Given the description of an element on the screen output the (x, y) to click on. 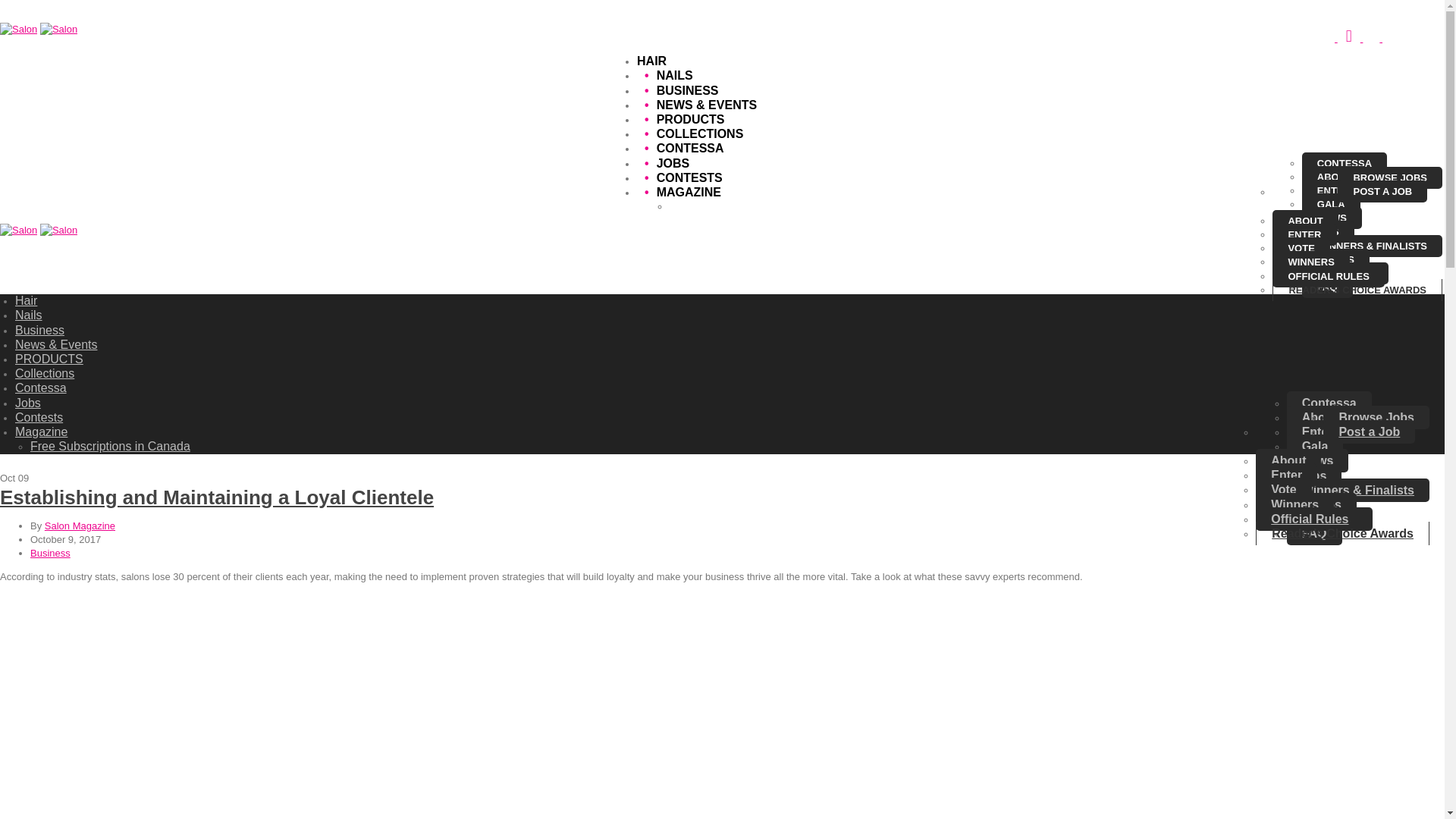
HAIR (651, 60)
WINNERS (1310, 261)
GALA (1330, 204)
ABOUT (1305, 220)
SPONSORS (1345, 273)
CONTESSA (1344, 162)
OFFICIAL RULES (1328, 276)
NEWS (1331, 218)
BROWSE JOBS (1390, 178)
BUSINESS (677, 90)
